Given the description of an element on the screen output the (x, y) to click on. 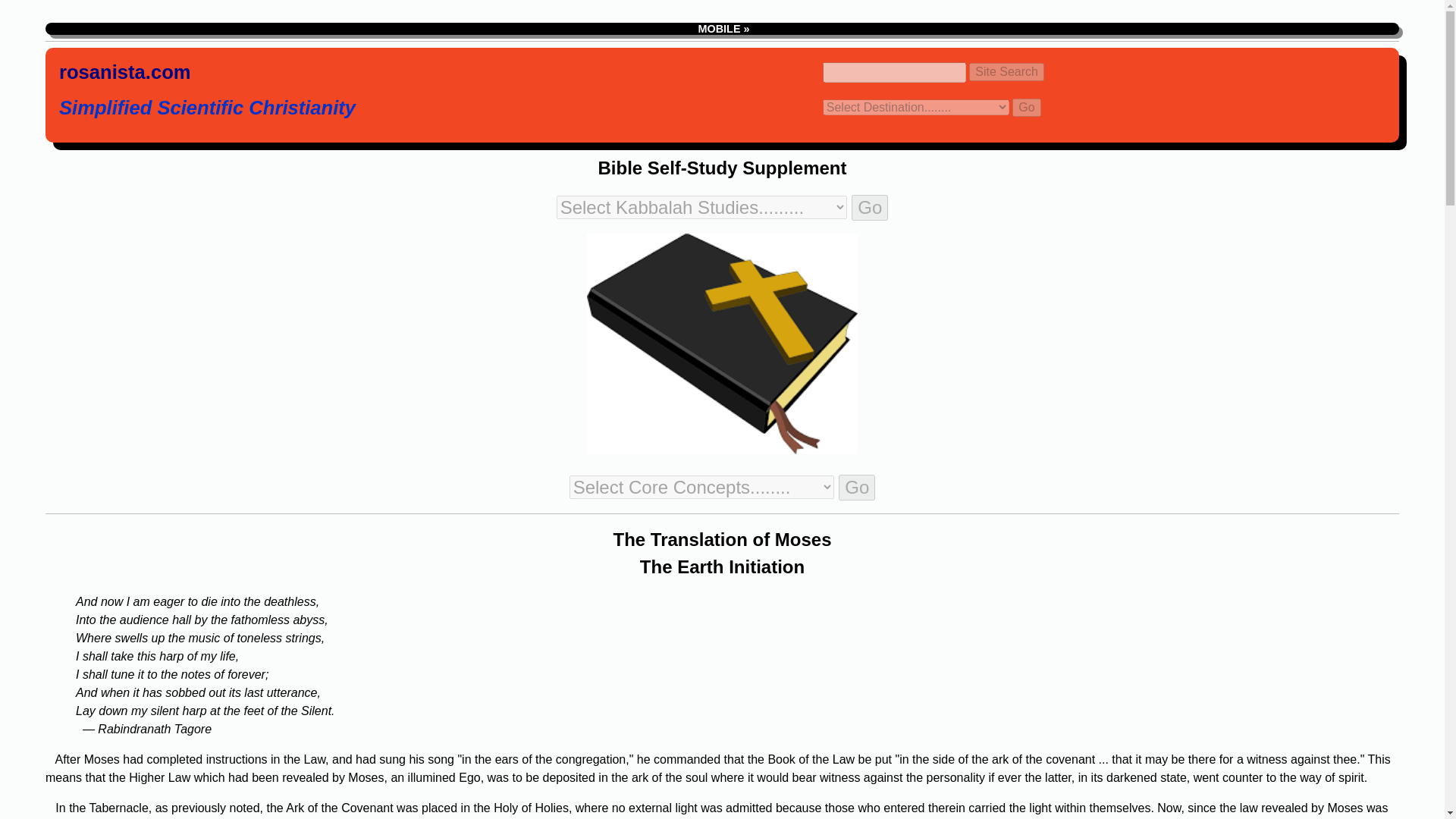
Go (1026, 107)
rosanista.com (124, 74)
Site Search (1006, 72)
Go (869, 207)
Go (856, 487)
Site Search (1006, 72)
